Given the description of an element on the screen output the (x, y) to click on. 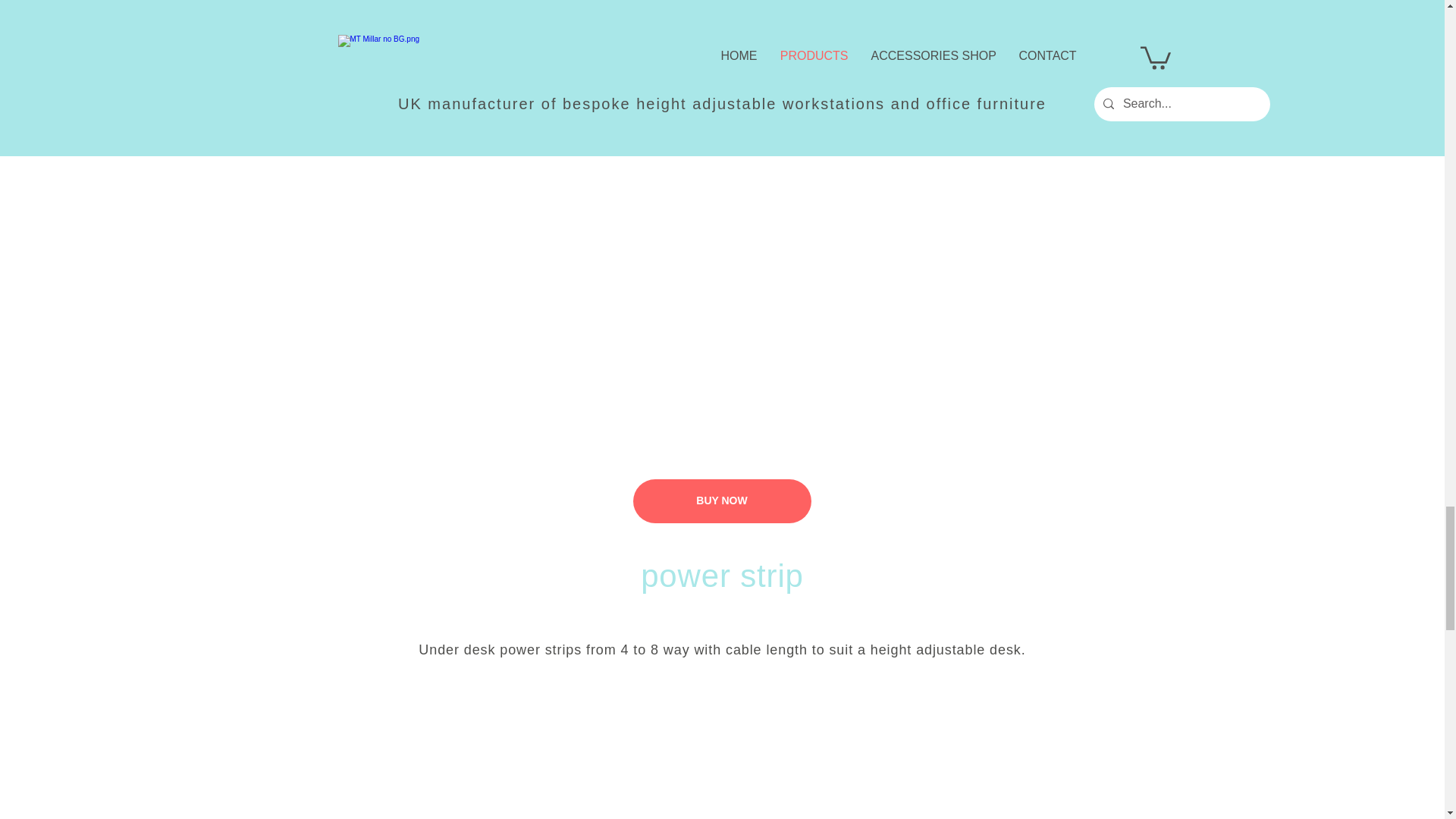
BUY NOW (720, 501)
